Given the description of an element on the screen output the (x, y) to click on. 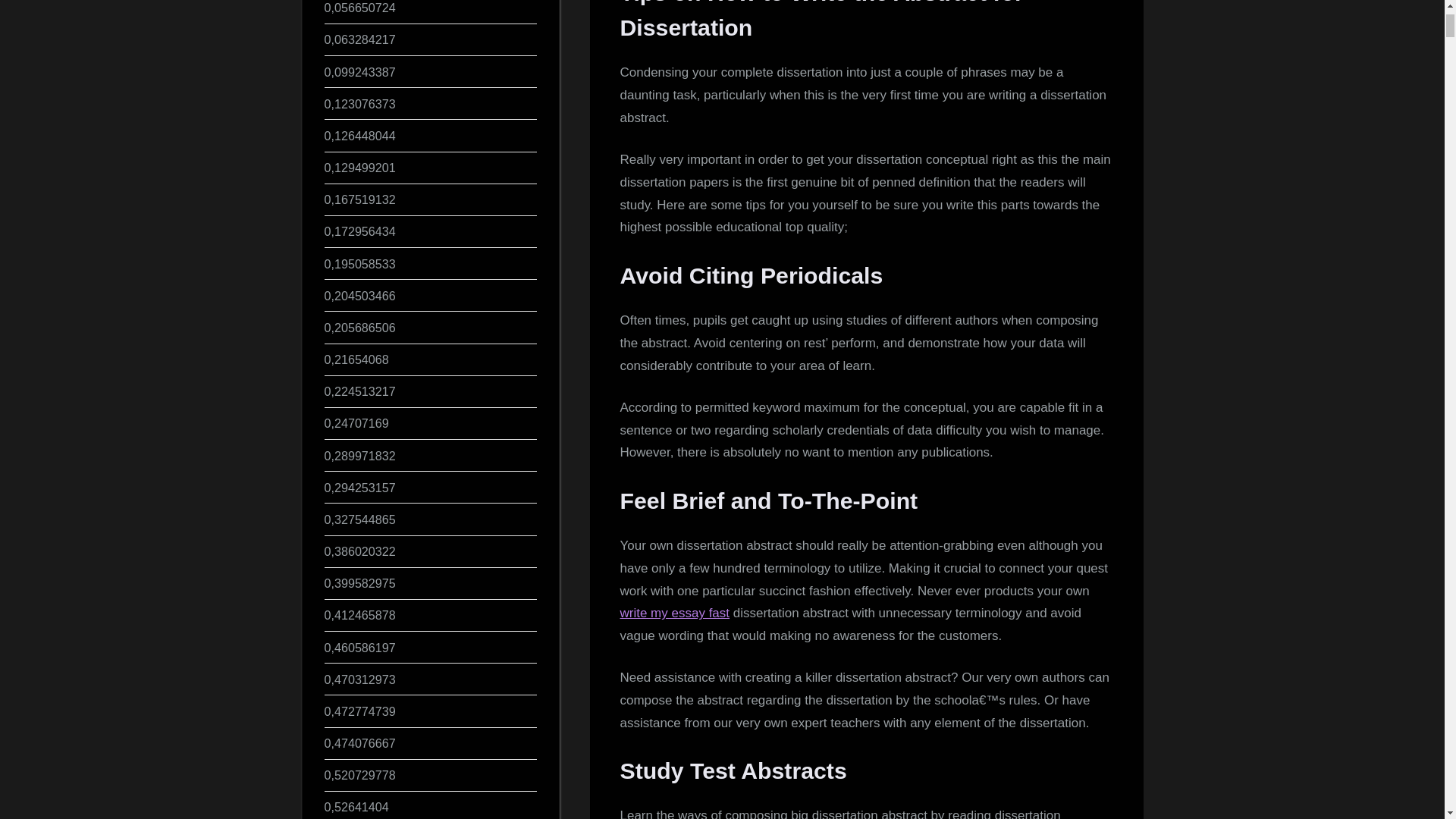
write my essay fast (675, 612)
